Given the description of an element on the screen output the (x, y) to click on. 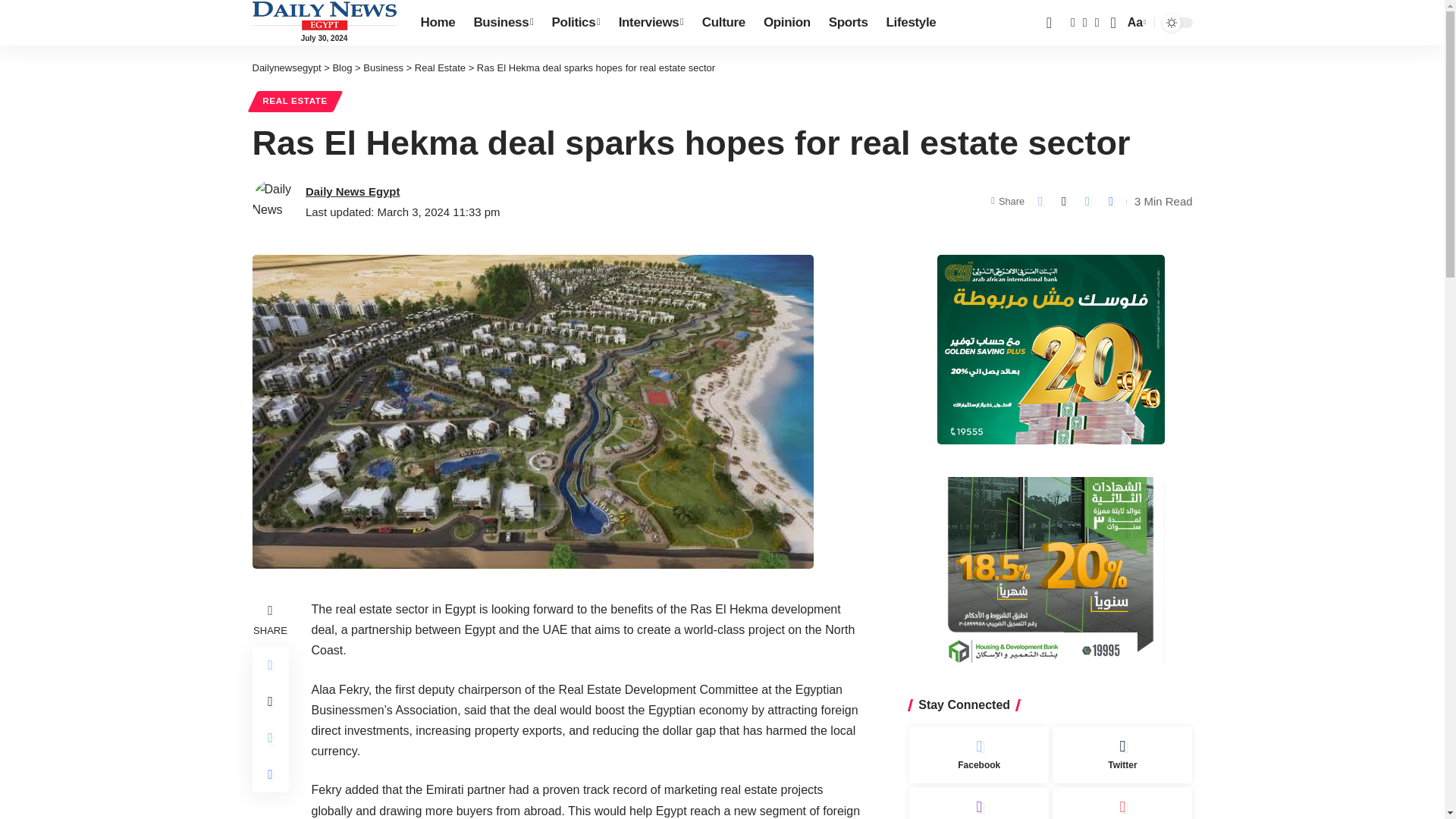
Business (502, 22)
Home (437, 22)
Opinion (786, 22)
Politics (576, 22)
Interviews (651, 22)
Culture (723, 22)
Dailynewsegypt (323, 15)
